Given the description of an element on the screen output the (x, y) to click on. 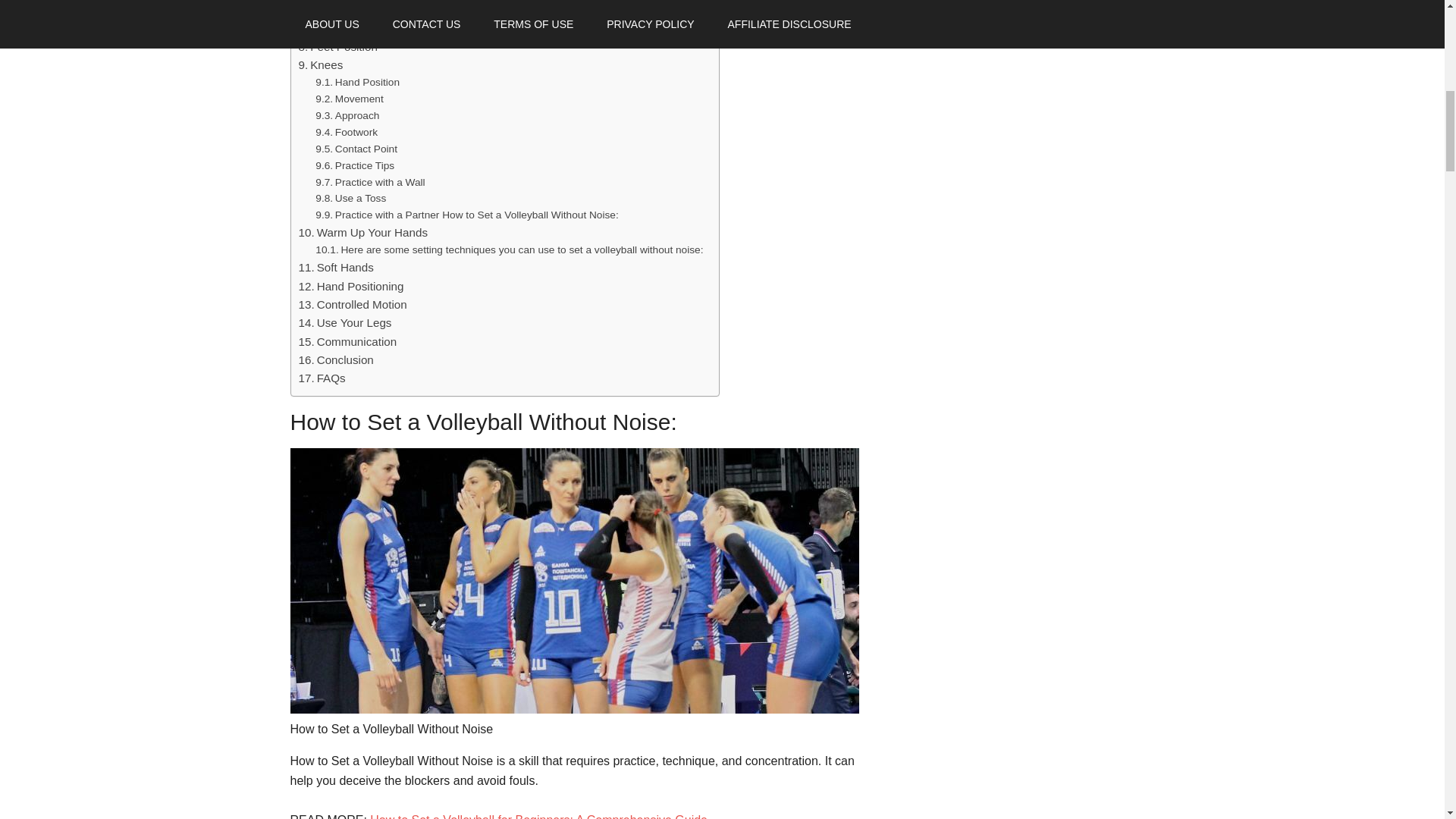
Body Position (339, 27)
Body Position (339, 27)
Footwork (346, 132)
Practice Tips (354, 166)
Hand Position (356, 82)
Movement (348, 98)
Contact Point (356, 149)
